Given the description of an element on the screen output the (x, y) to click on. 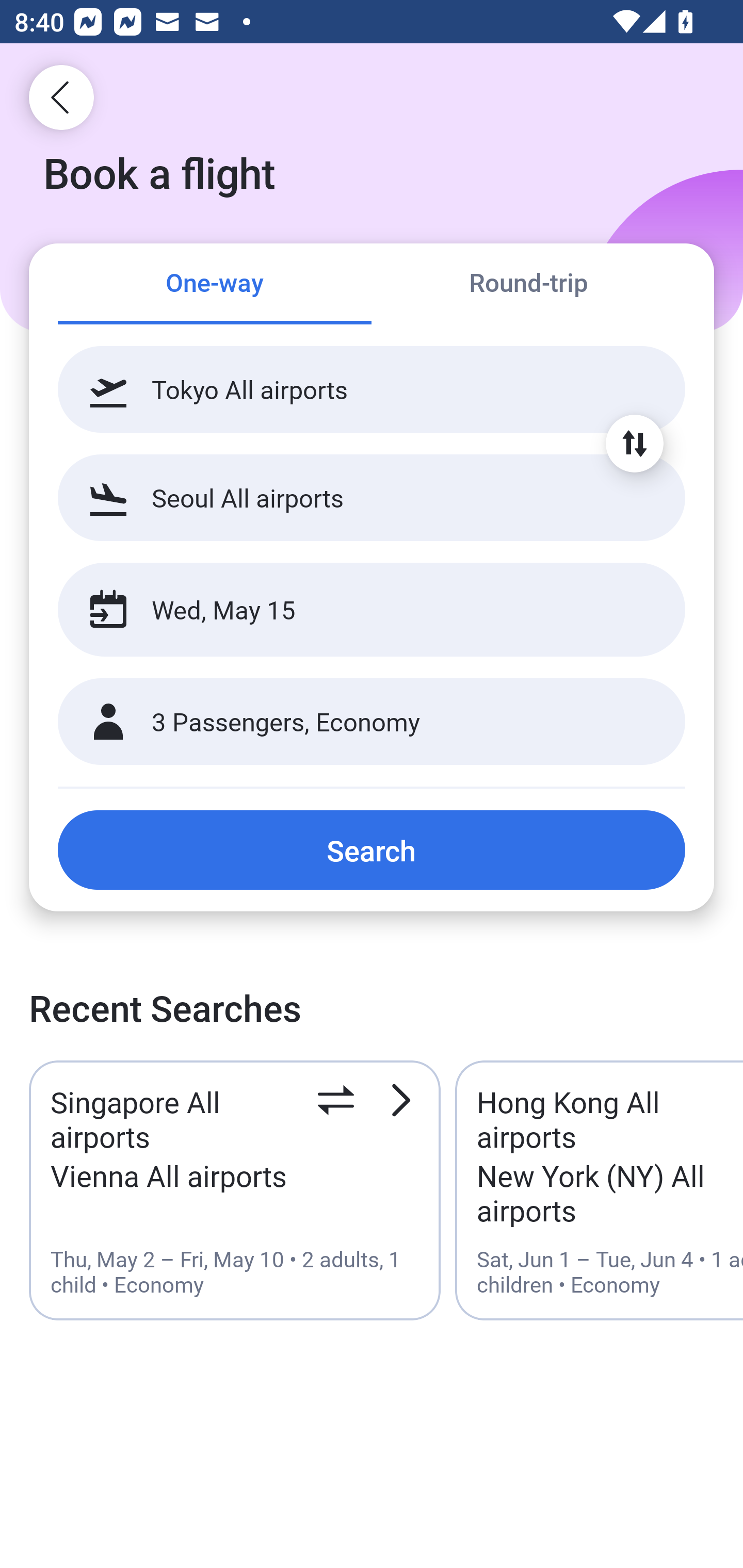
Round-trip (528, 284)
Tokyo All airports (371, 389)
Seoul All airports (371, 497)
Wed, May 15 (349, 609)
3 Passengers, Economy (371, 721)
Search (371, 849)
